Given the description of an element on the screen output the (x, y) to click on. 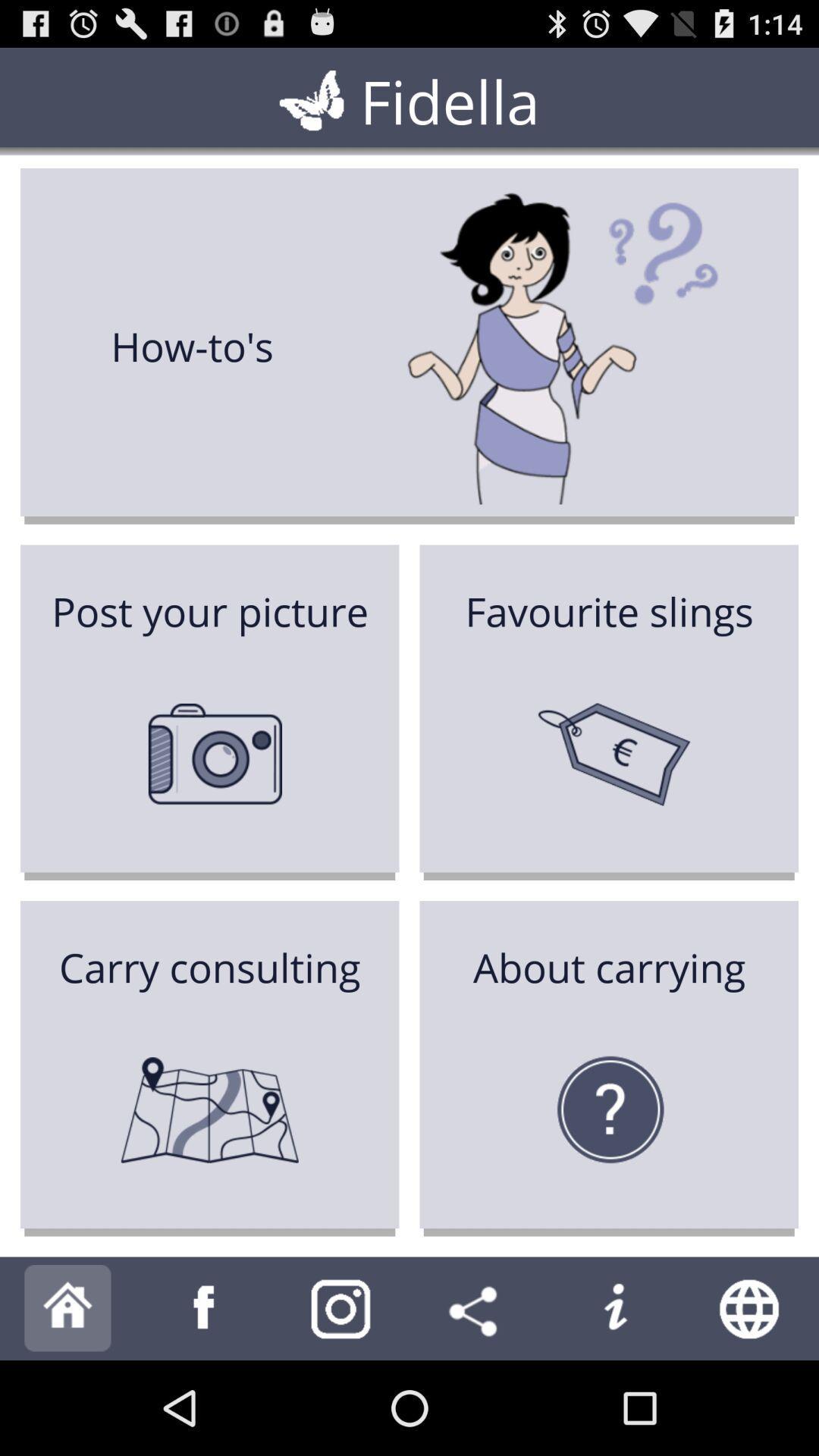
select to facebook (204, 1308)
